Given the description of an element on the screen output the (x, y) to click on. 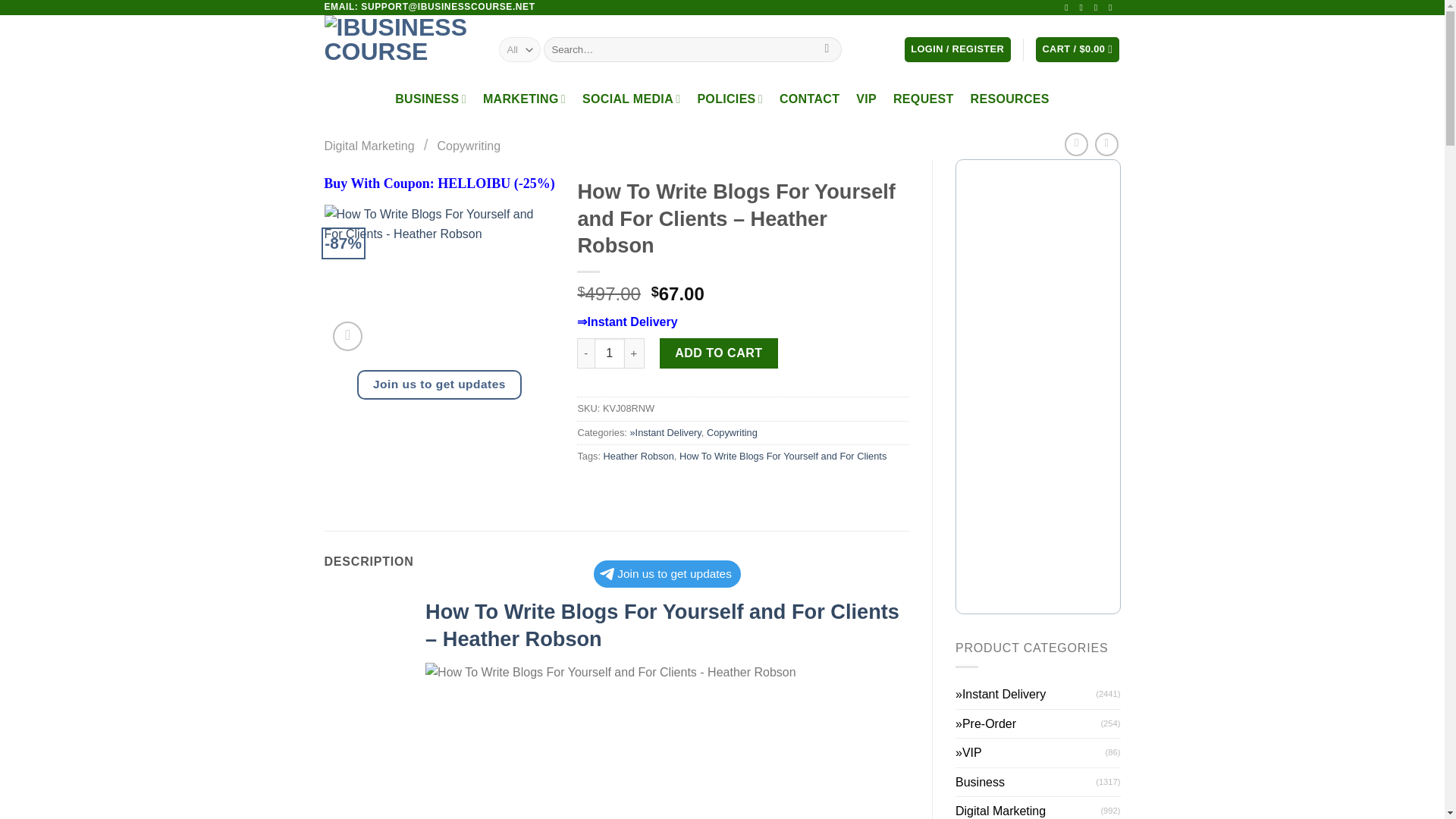
Qty (609, 353)
Cart (1077, 49)
BUSINESS (429, 98)
CONTACT (809, 99)
SOCIAL MEDIA (630, 98)
Search (826, 49)
iBusiness Course - ibusinesscourse (400, 49)
1 (609, 353)
